Given the description of an element on the screen output the (x, y) to click on. 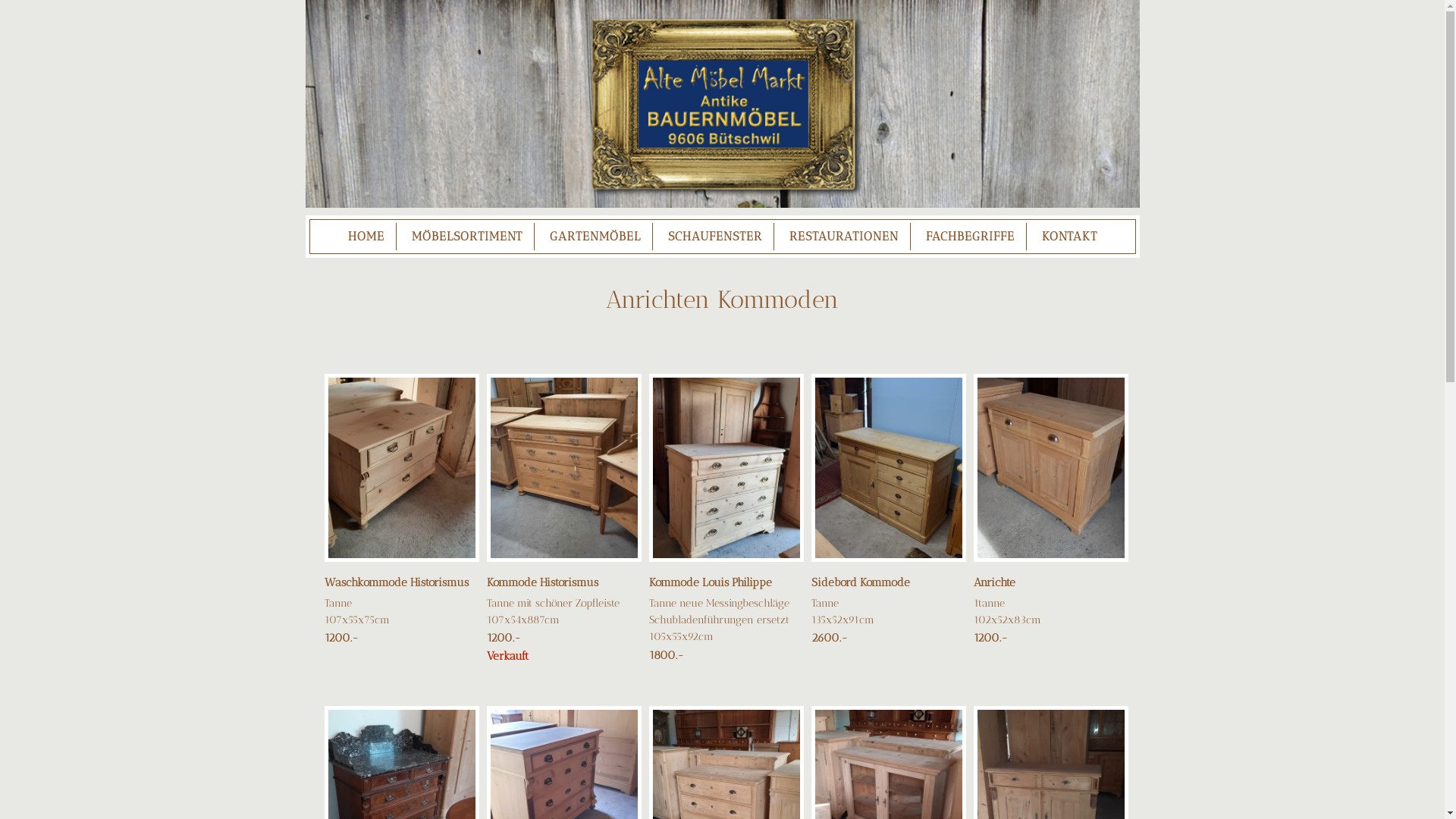
KONTAKT Element type: text (1068, 236)
FACHBEGRIFFE Element type: text (970, 236)
Startseite Element type: hover (721, 103)
SCHAUFENSTER Element type: text (714, 236)
HOME Element type: text (365, 236)
RESTAURATIONEN Element type: text (844, 236)
